Given the description of an element on the screen output the (x, y) to click on. 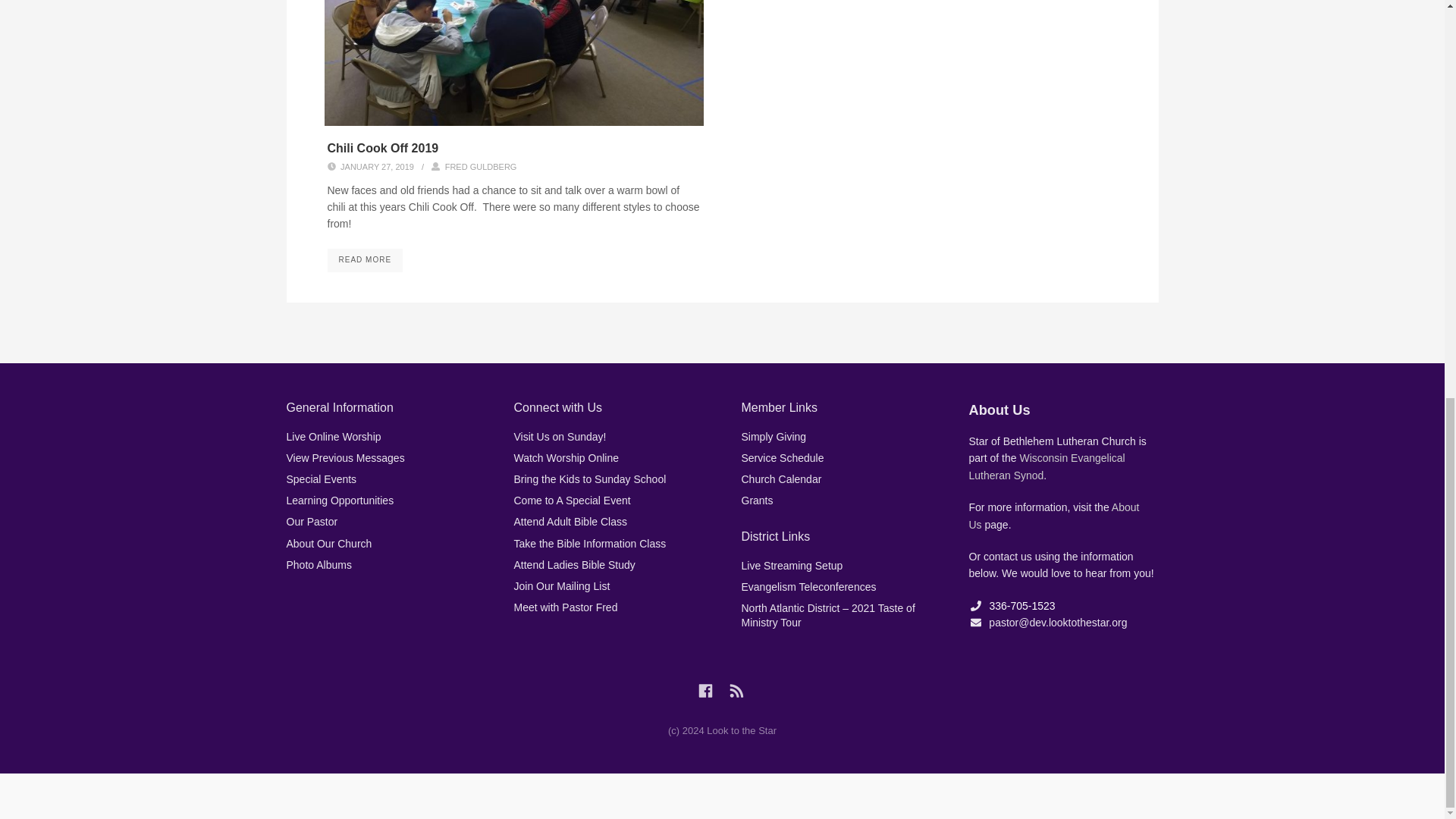
Join Our Mailing List (561, 585)
FRED GULDBERG (480, 166)
Simply Giving (773, 436)
Visit Us on Sunday! (560, 436)
Chili Cook Off 2019 (383, 147)
Come to A Special Event (571, 500)
Bring the Kids to Sunday School (589, 479)
Chili Cook Off 2019 (365, 259)
READ MORE (365, 259)
Attend Adult Bible Class (570, 521)
Attend Ladies Bible Study (573, 564)
View Previous Messages (345, 458)
Meet with Pastor Fred (565, 607)
Special Events (321, 479)
Our Pastor (311, 521)
